Given the description of an element on the screen output the (x, y) to click on. 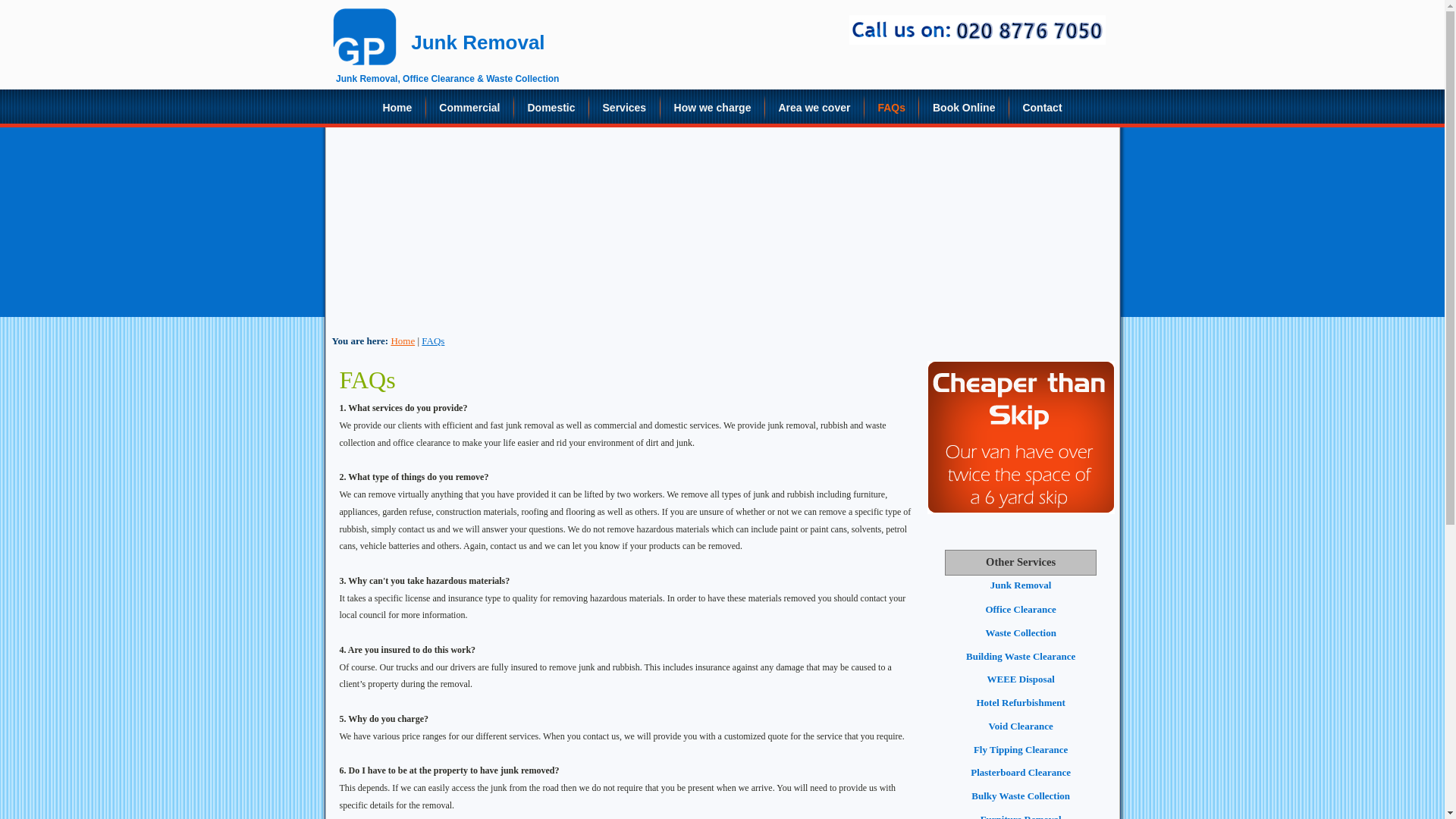
Junk Removal (1020, 584)
Bulky Waste Collection (1020, 795)
WEEE Disposal (1020, 678)
Book Online (963, 107)
FAQs (433, 340)
Domestic (550, 107)
FAQs (433, 340)
FAQs (891, 109)
Office Clearance (1020, 609)
Area we cover (814, 107)
